Given the description of an element on the screen output the (x, y) to click on. 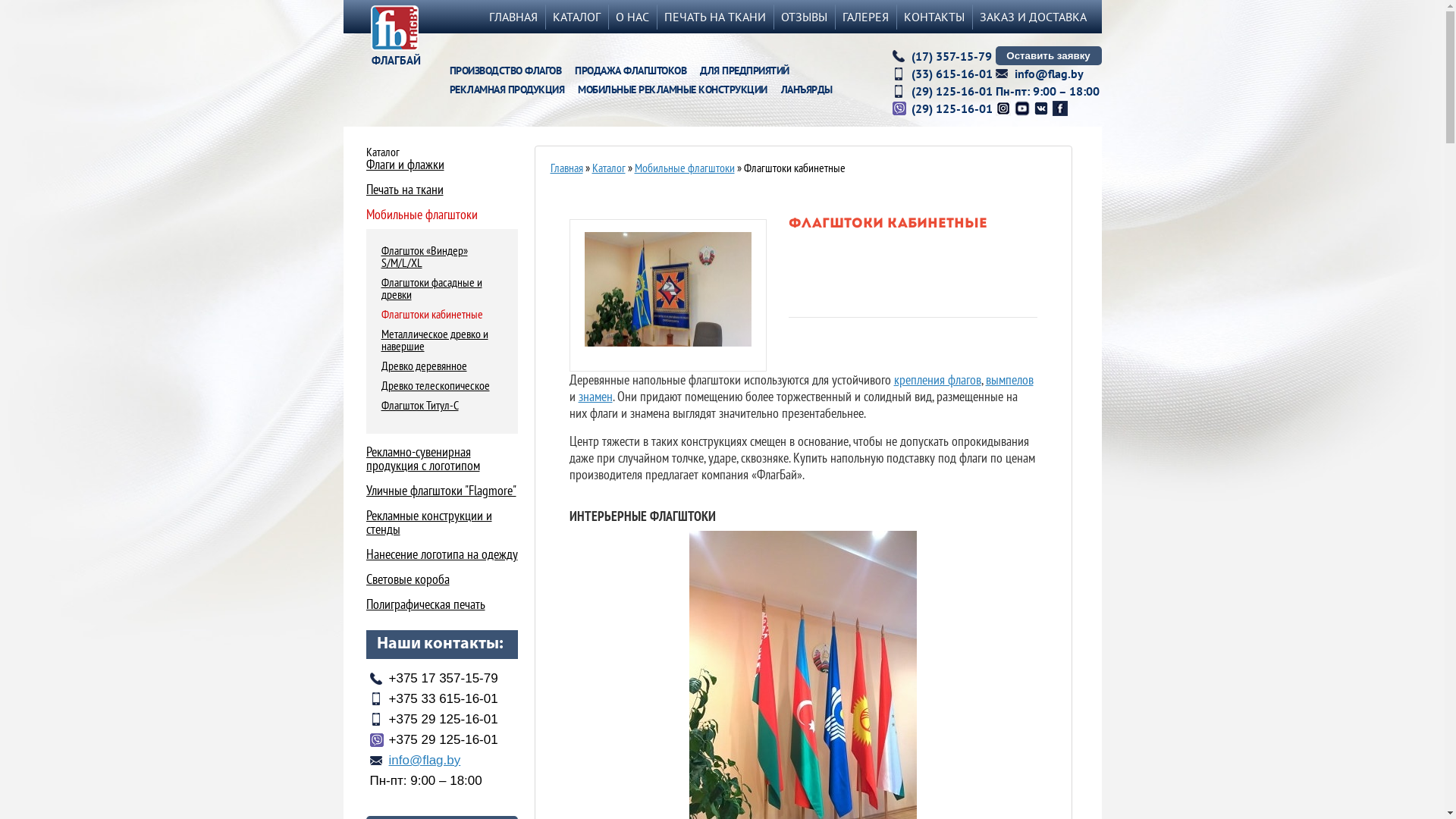
(29) 125-16-01 Element type: text (951, 108)
info@flag.by Element type: text (1048, 73)
(17) 357-15-79 Element type: text (951, 55)
(29) 125-16-01 Element type: text (951, 90)
+375 17 357-15-79 Element type: text (434, 678)
+375 29 125-16-01 Element type: text (434, 719)
+375 33 615-16-01 Element type: text (434, 698)
(33) 615-16-01 Element type: text (951, 73)
+375 29 125-16-01 Element type: text (434, 739)
info@flag.by Element type: text (415, 760)
